Given the description of an element on the screen output the (x, y) to click on. 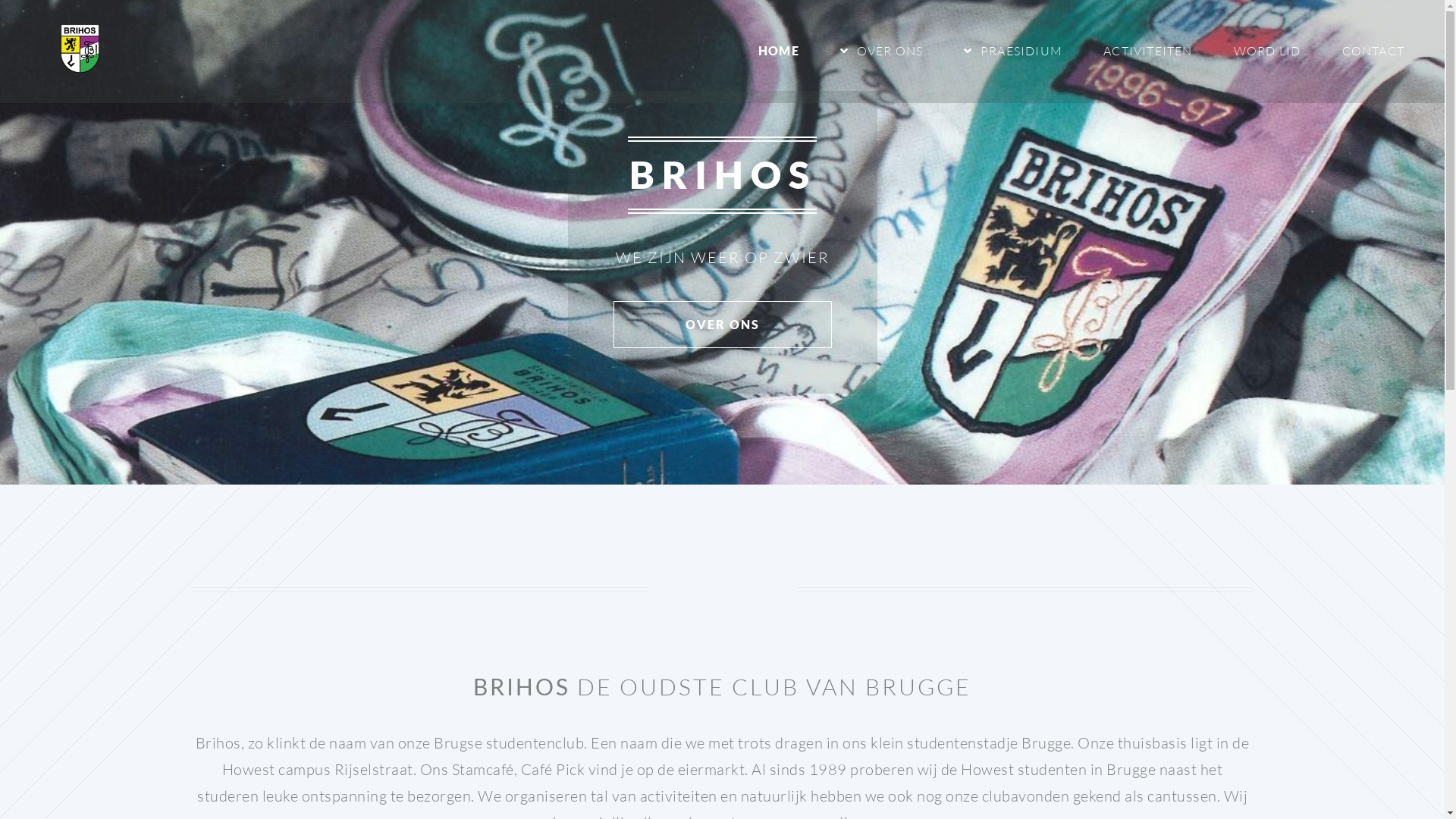
HOME Element type: text (778, 51)
ACTIVITEITEN Element type: text (1147, 51)
OVER ONS Element type: text (881, 51)
OVER ONS Element type: text (721, 323)
PRAESIDIUM Element type: text (1012, 51)
WORD LID Element type: text (1267, 51)
CONTACT Element type: text (1373, 51)
